Given the description of an element on the screen output the (x, y) to click on. 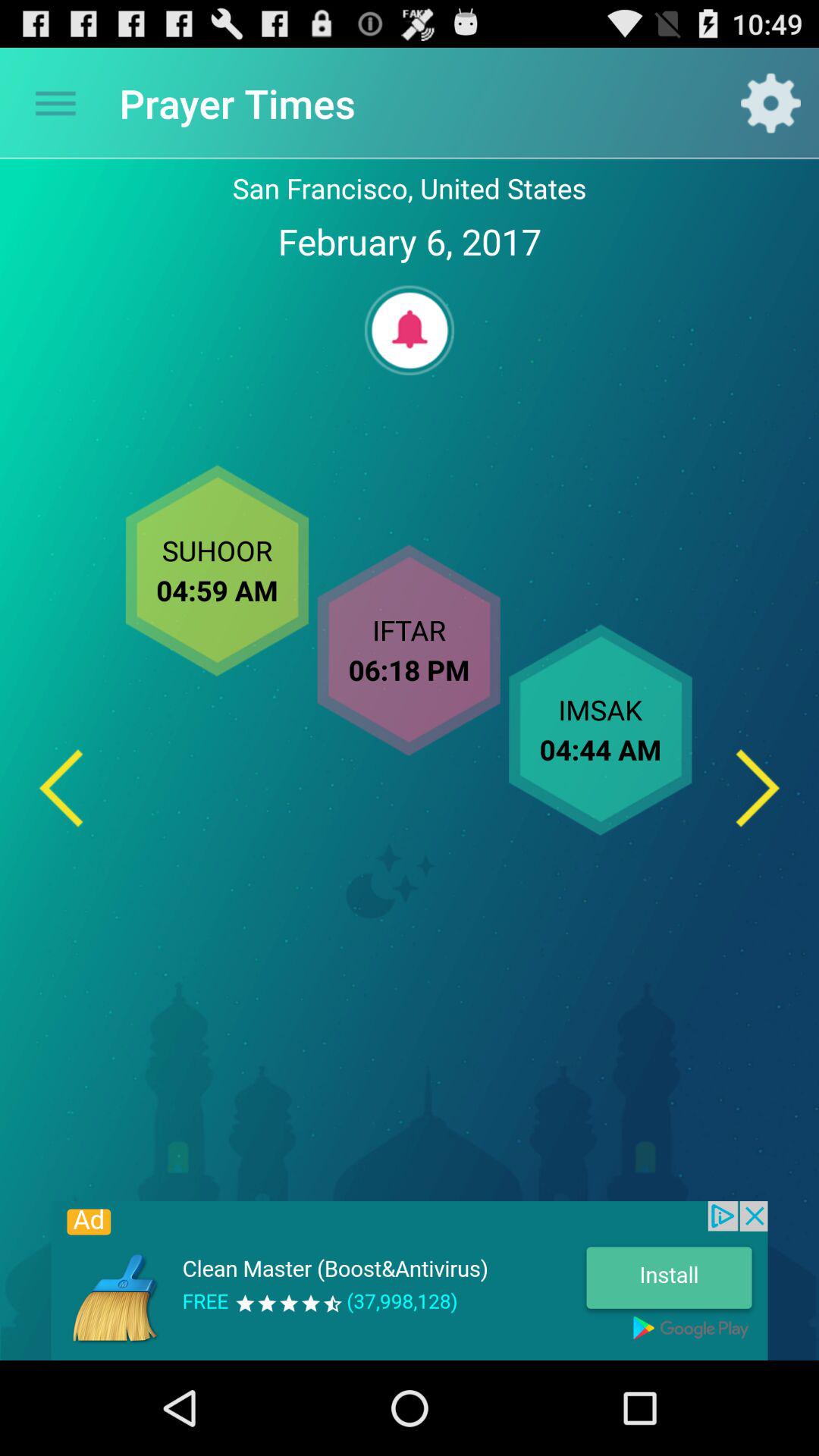
go previous (60, 787)
